Given the description of an element on the screen output the (x, y) to click on. 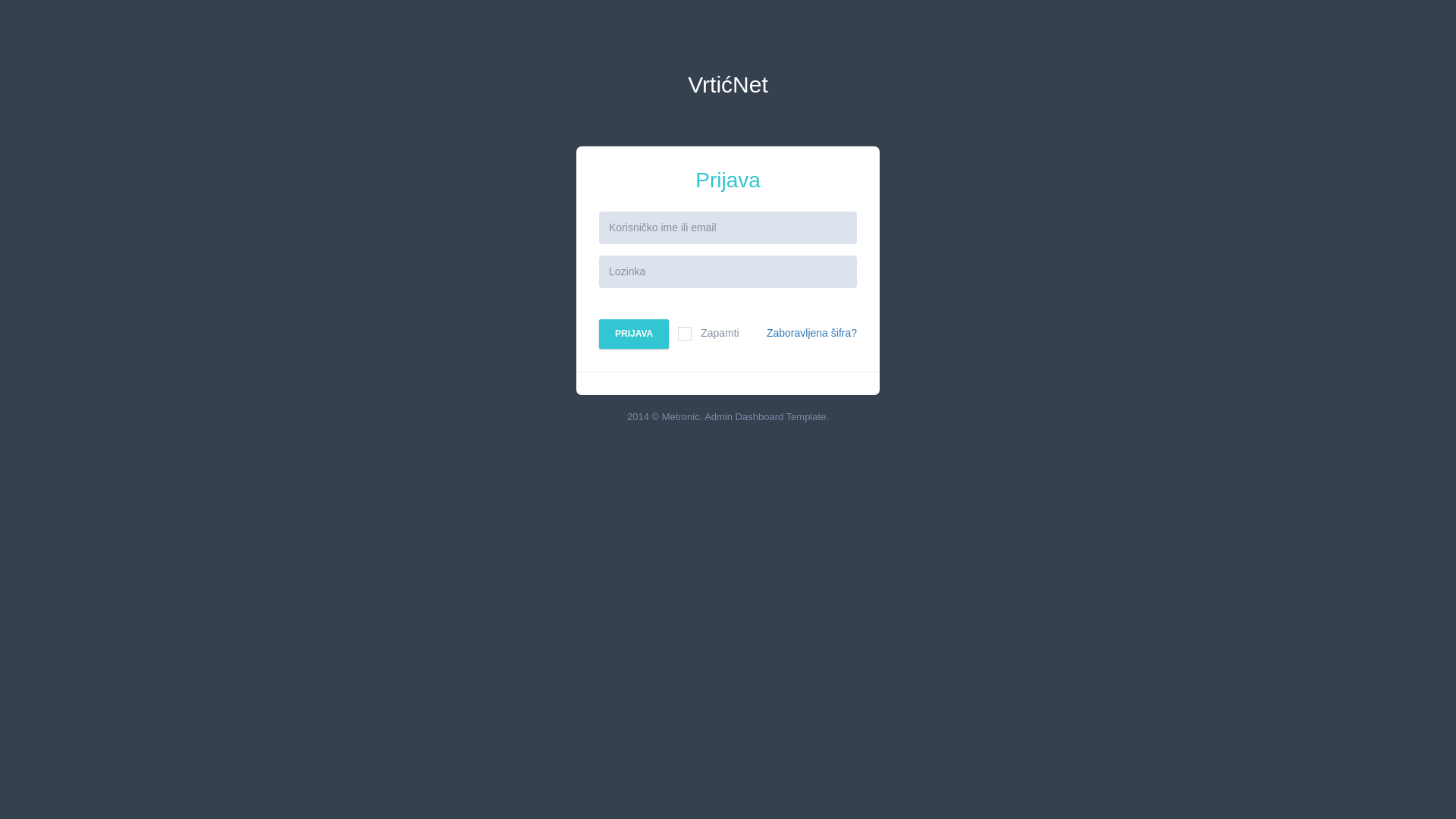
PRIJAVA Element type: text (633, 333)
